Given the description of an element on the screen output the (x, y) to click on. 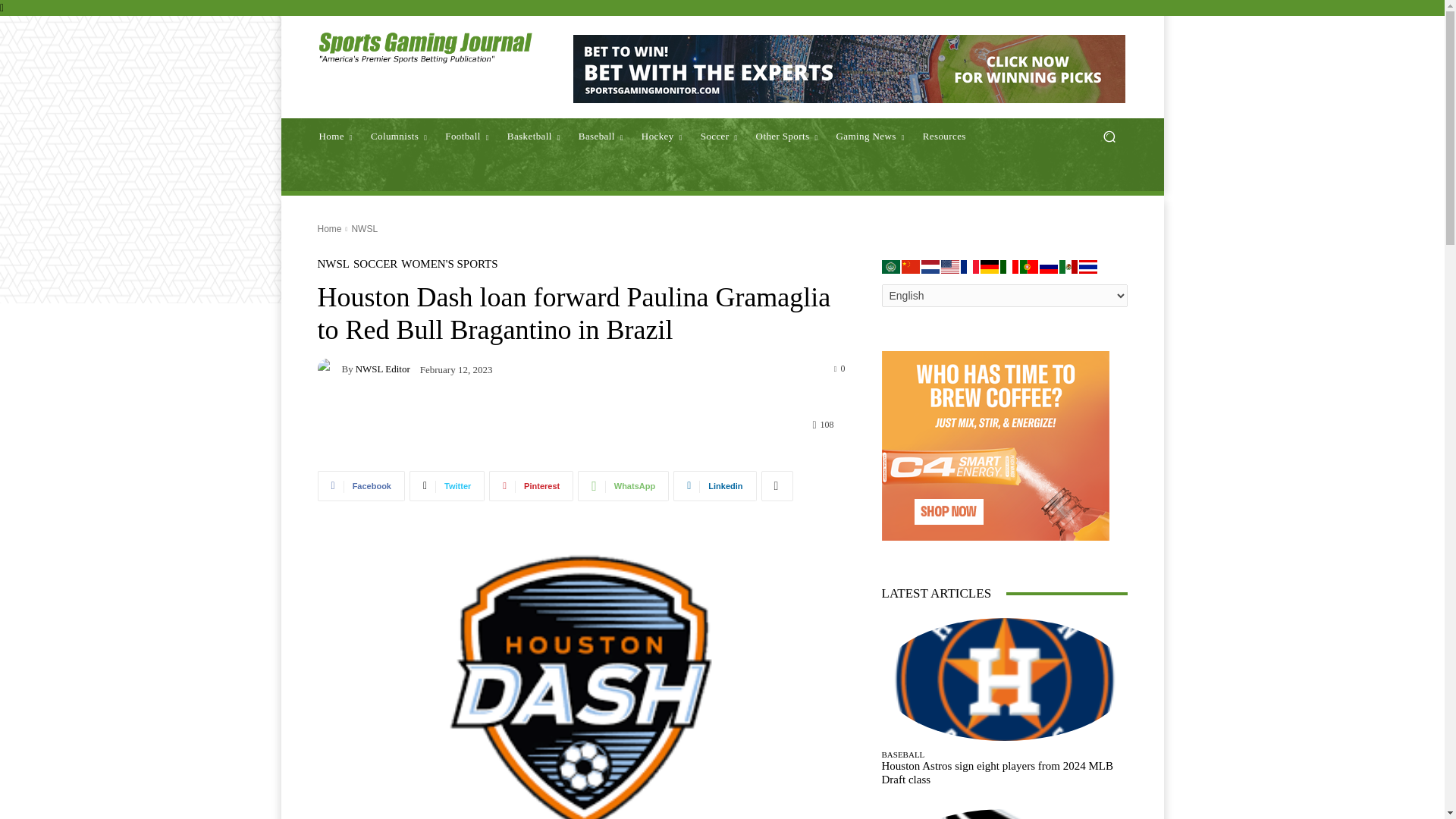
Linkedin (713, 485)
NWSL Editor (328, 368)
WhatsApp (623, 485)
Pinterest (531, 485)
Twitter (446, 485)
Facebook (360, 485)
View all posts in NWSL (363, 228)
